Given the description of an element on the screen output the (x, y) to click on. 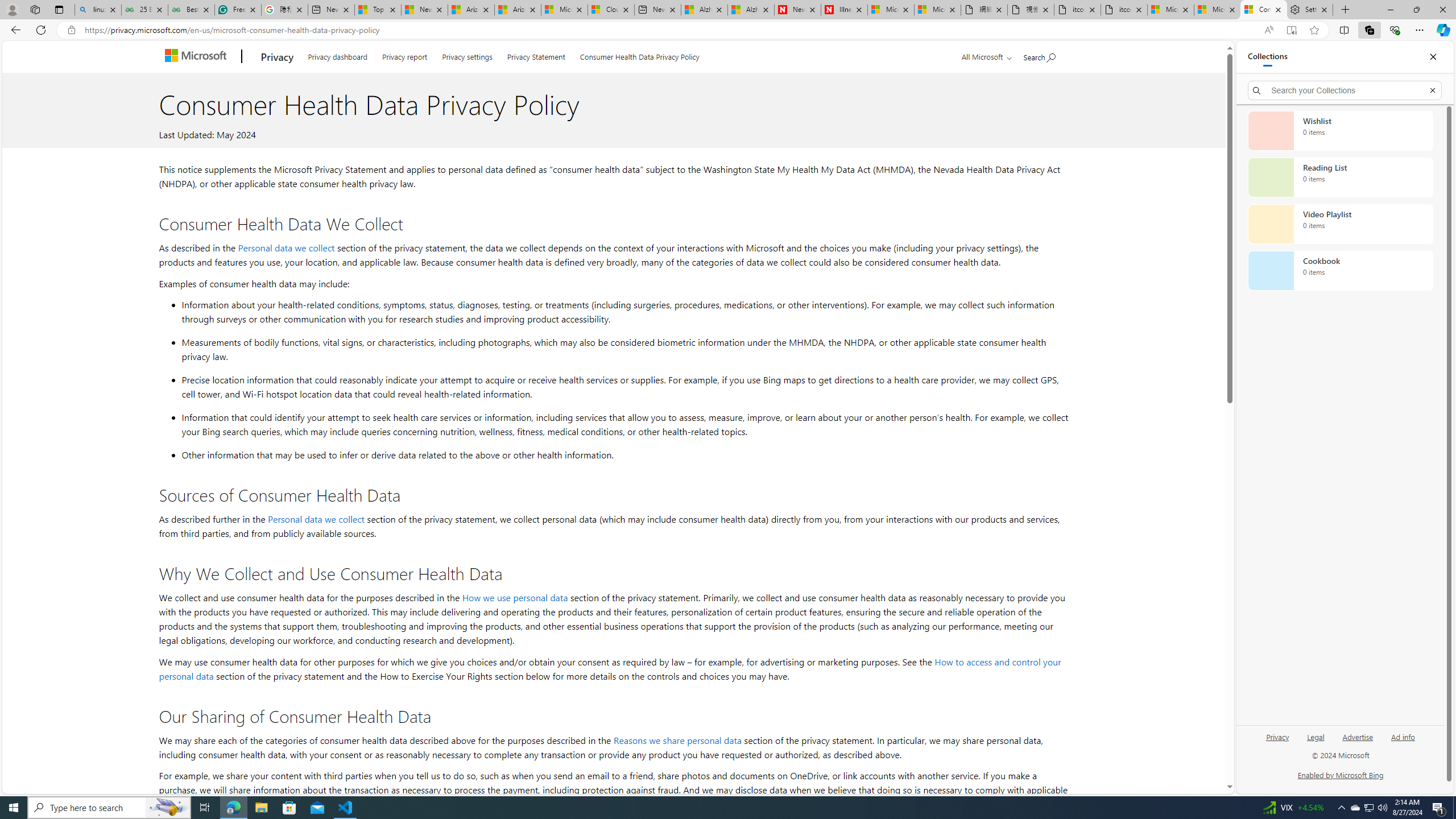
Cloud Computing Services | Microsoft Azure (610, 9)
How we use personal data (514, 597)
How to access and control your personal data (609, 668)
Privacy settings (466, 54)
Video Playlist collection, 0 items (1339, 223)
Cookbook collection, 0 items (1339, 270)
